Given the description of an element on the screen output the (x, y) to click on. 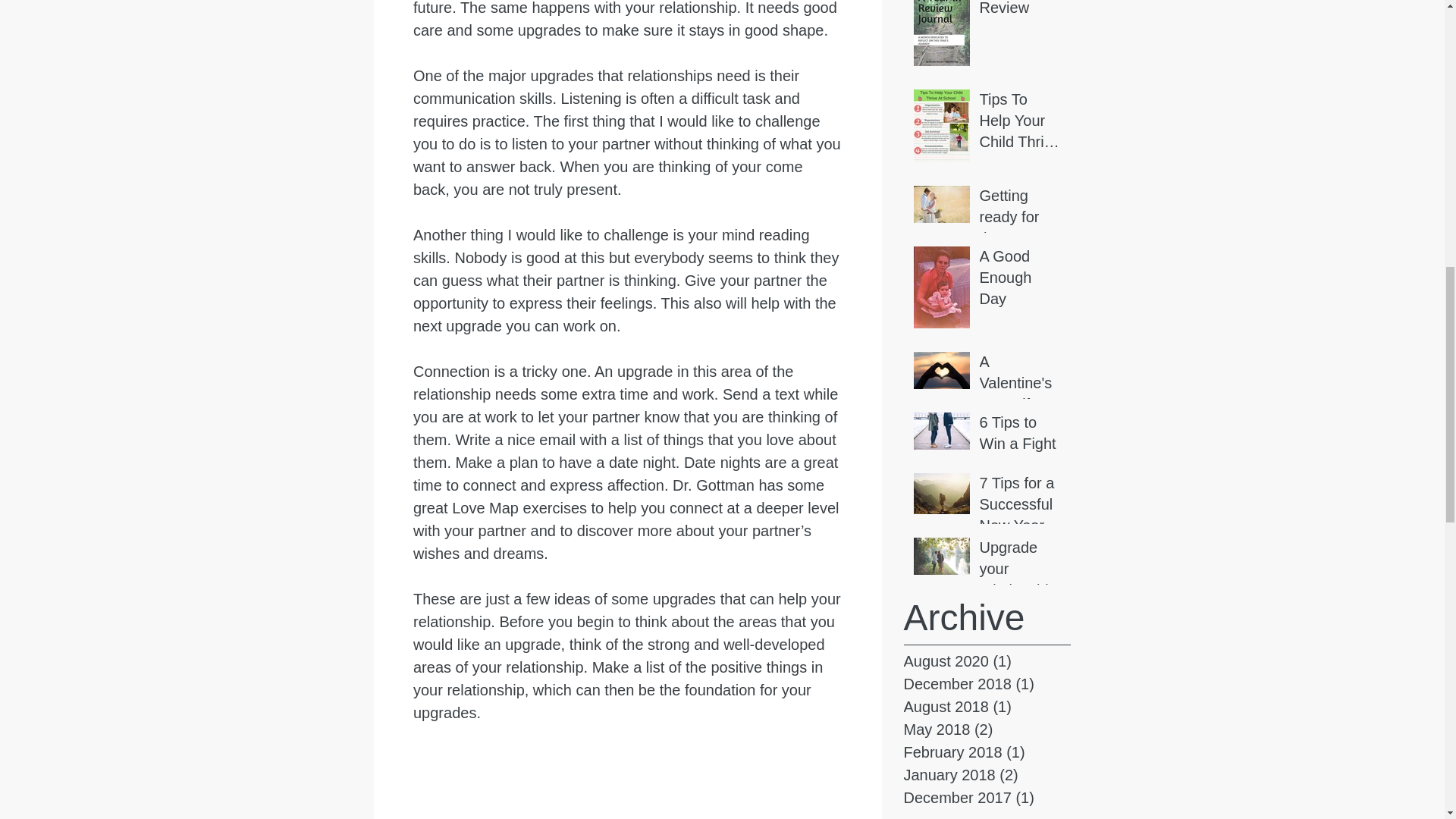
Tips To Help Your Child Thrive at School (1020, 123)
6 Tips to Win a Fight (1020, 435)
A Valentine's Day Gift (1020, 385)
A Year in Review (1020, 12)
A Good Enough Day (1020, 280)
Getting ready for the Journey (1020, 219)
